Given the description of an element on the screen output the (x, y) to click on. 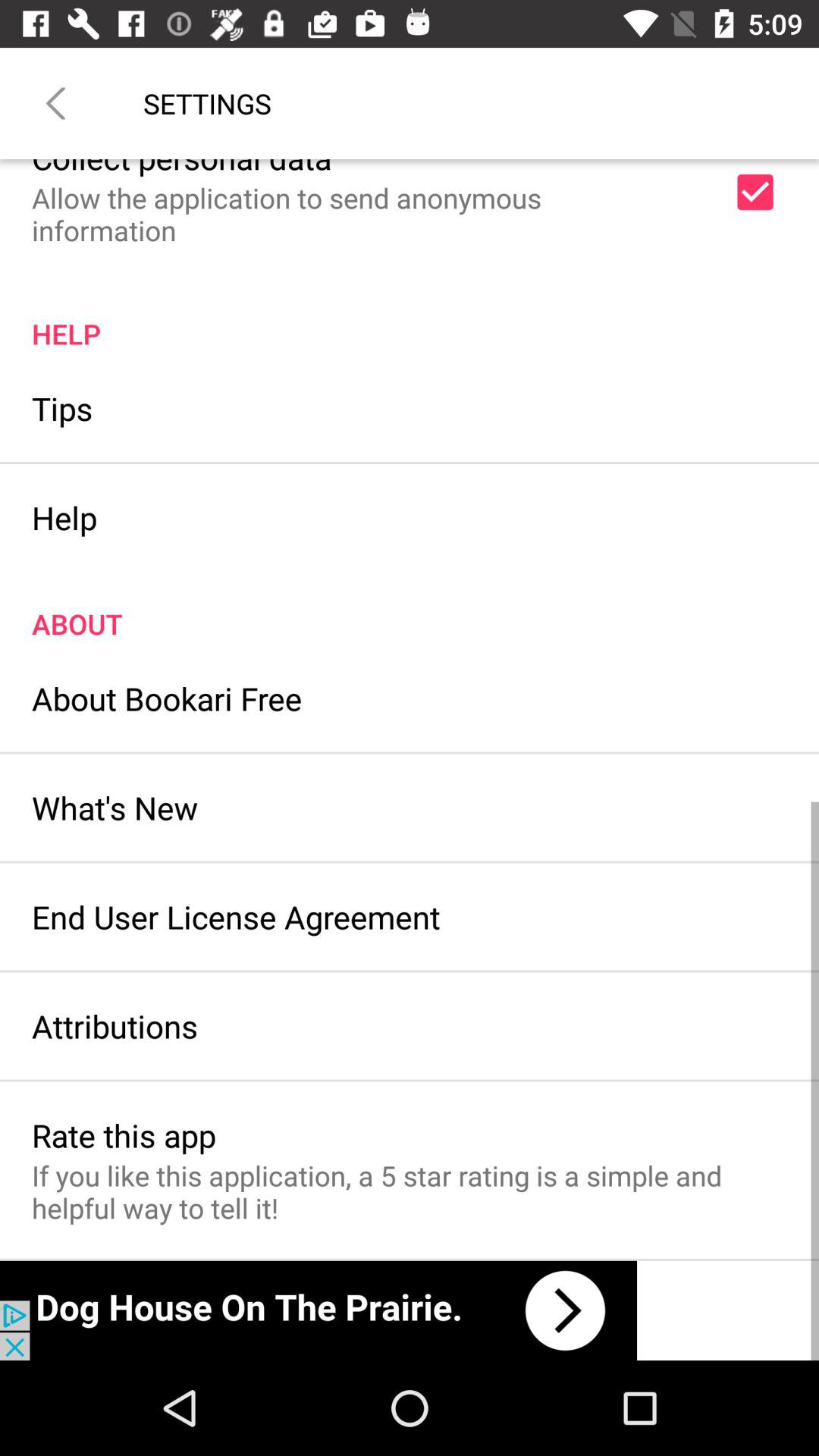
go back (55, 103)
